Given the description of an element on the screen output the (x, y) to click on. 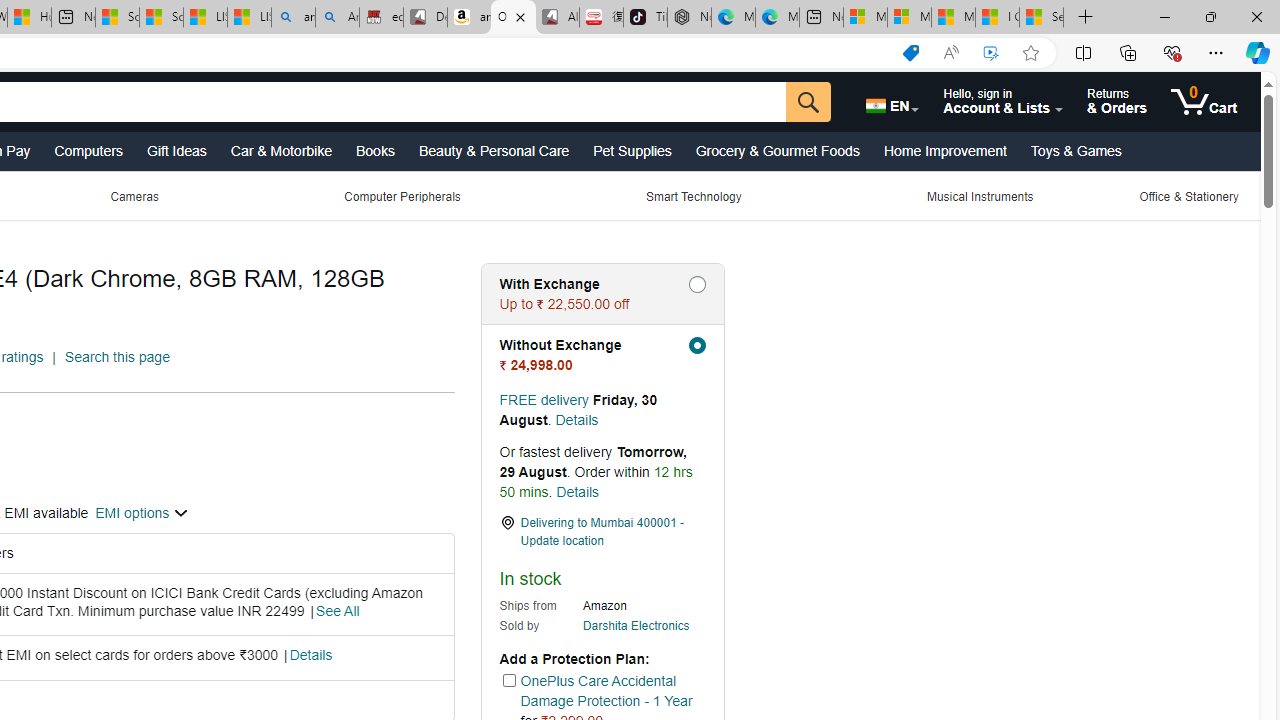
Nordace - Best Sellers (689, 17)
FREE delivery (543, 399)
Amazon Echo Dot PNG - Search Images (337, 17)
Pet Supplies (632, 150)
0 items in cart (1202, 101)
EMI options  (141, 512)
Delivering to Mumbai 400001 - Update location (602, 532)
Details (577, 491)
Enhance video (991, 53)
